Given the description of an element on the screen output the (x, y) to click on. 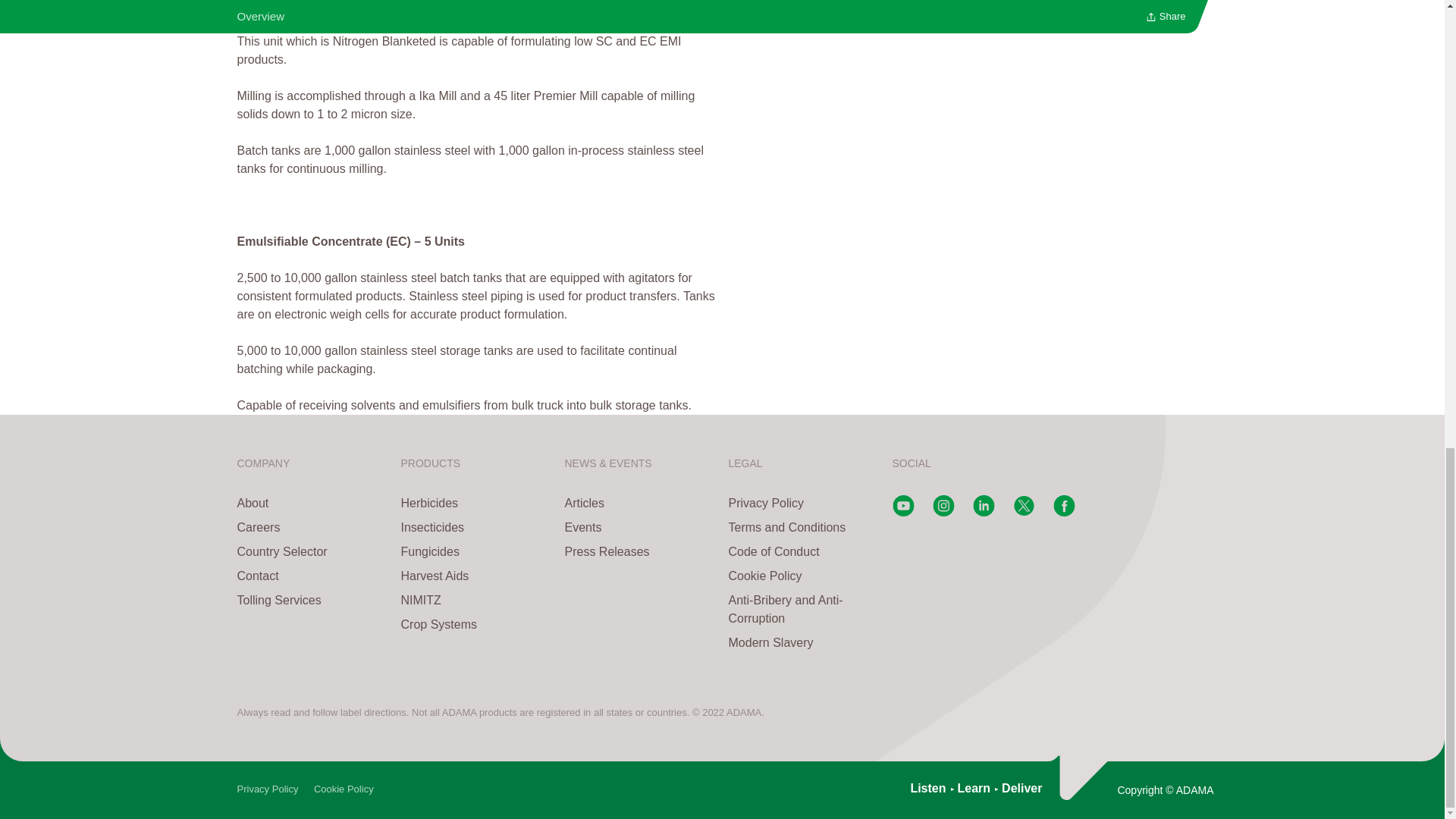
Youtube Channel (902, 512)
Facebook (1063, 512)
LinkedIn (983, 512)
Twitter (1024, 512)
Instagram (944, 512)
